Given the description of an element on the screen output the (x, y) to click on. 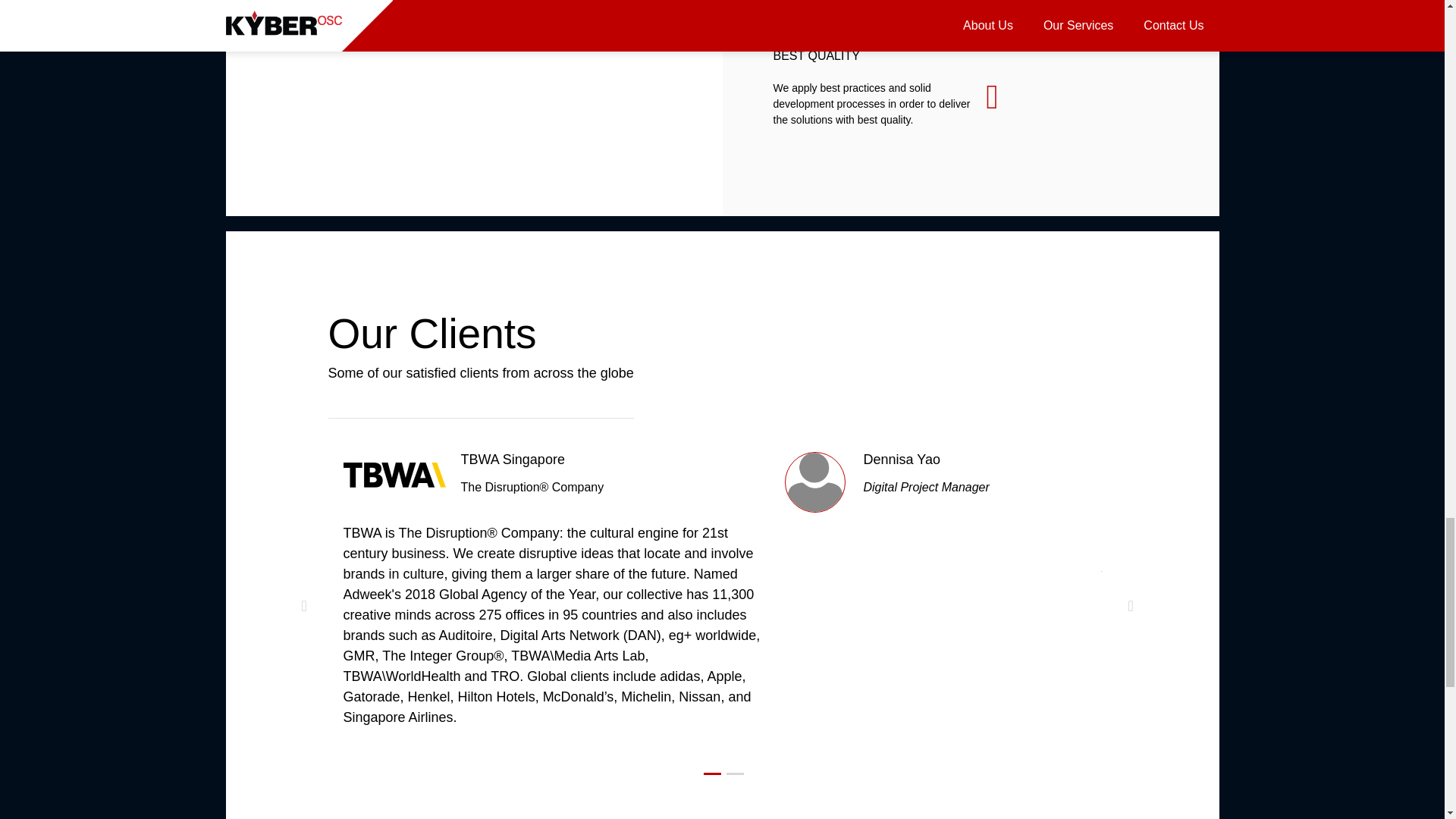
1 (711, 769)
2 (735, 769)
TBWA Singapore (512, 459)
